Given the description of an element on the screen output the (x, y) to click on. 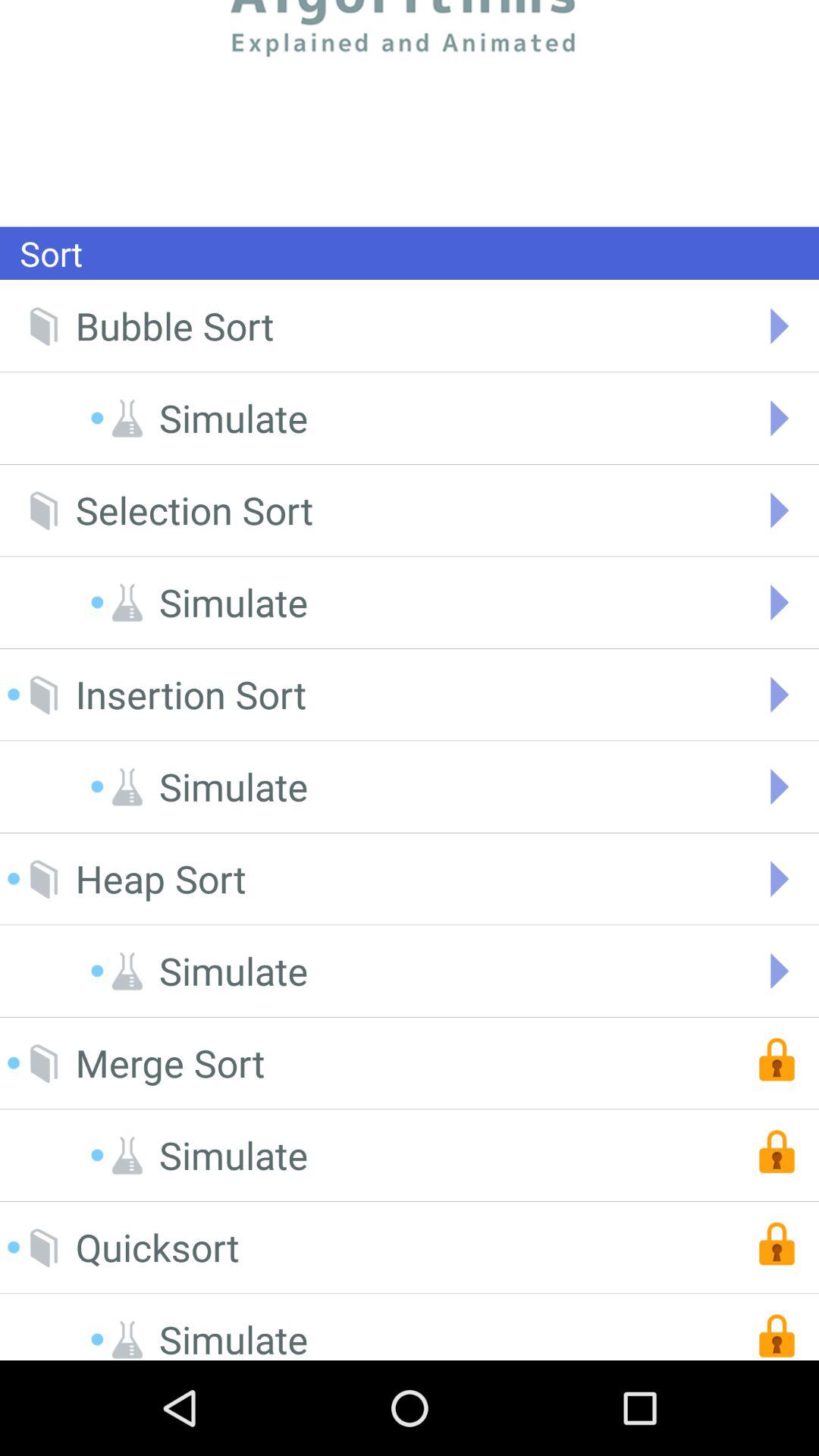
select the item above the simulate icon (174, 325)
